Given the description of an element on the screen output the (x, y) to click on. 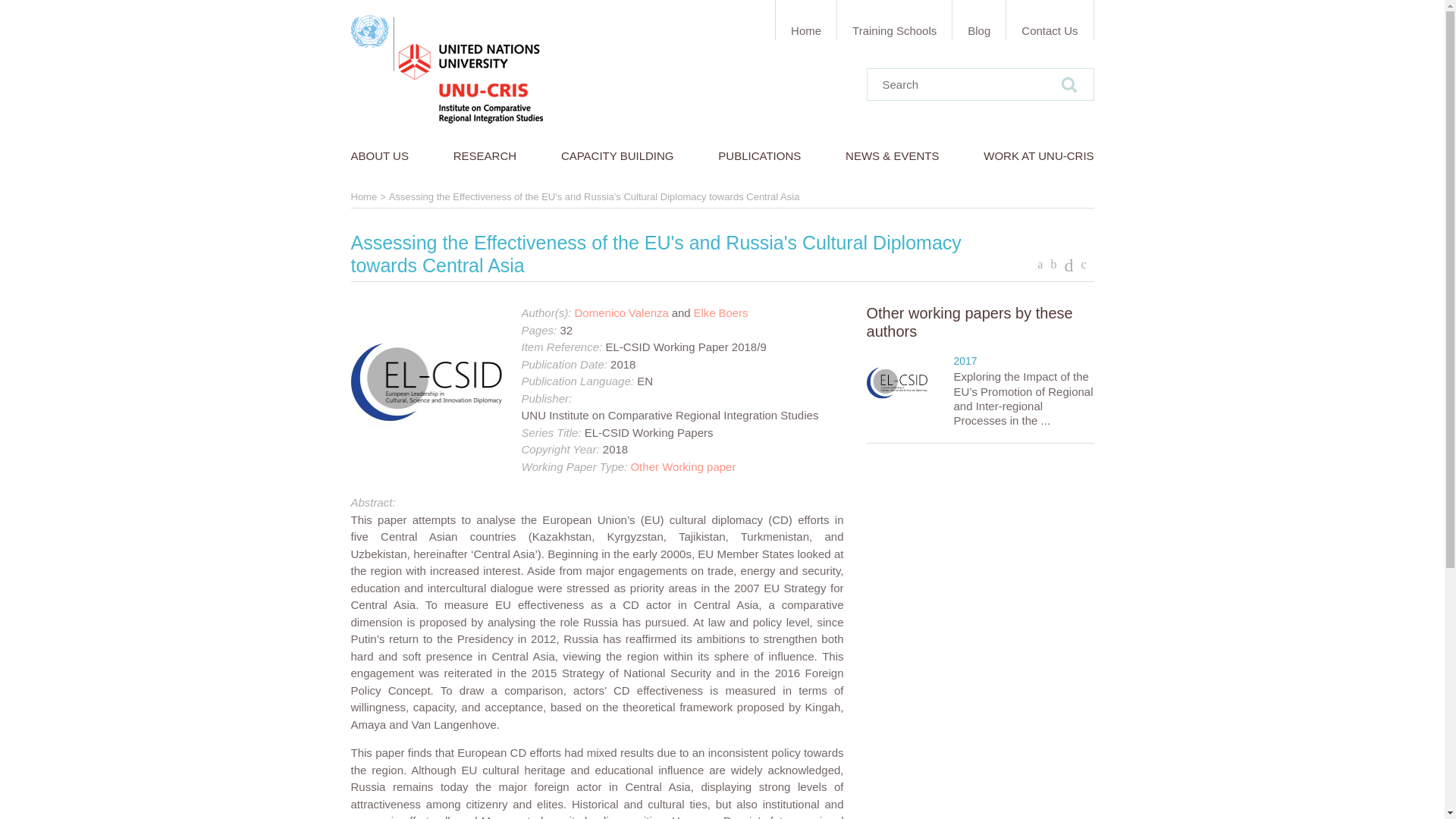
ABOUT US (384, 156)
PUBLICATIONS (759, 156)
Home (804, 20)
Blog (979, 20)
Training Schools (893, 20)
CAPACITY BUILDING (617, 156)
UNU-CRIS (445, 69)
RESEARCH (484, 156)
Search (1068, 83)
Contact Us (1049, 20)
WORK AT UNU-CRIS (1032, 156)
Search (1068, 83)
Enter the terms you wish to search for. (979, 83)
